Given the description of an element on the screen output the (x, y) to click on. 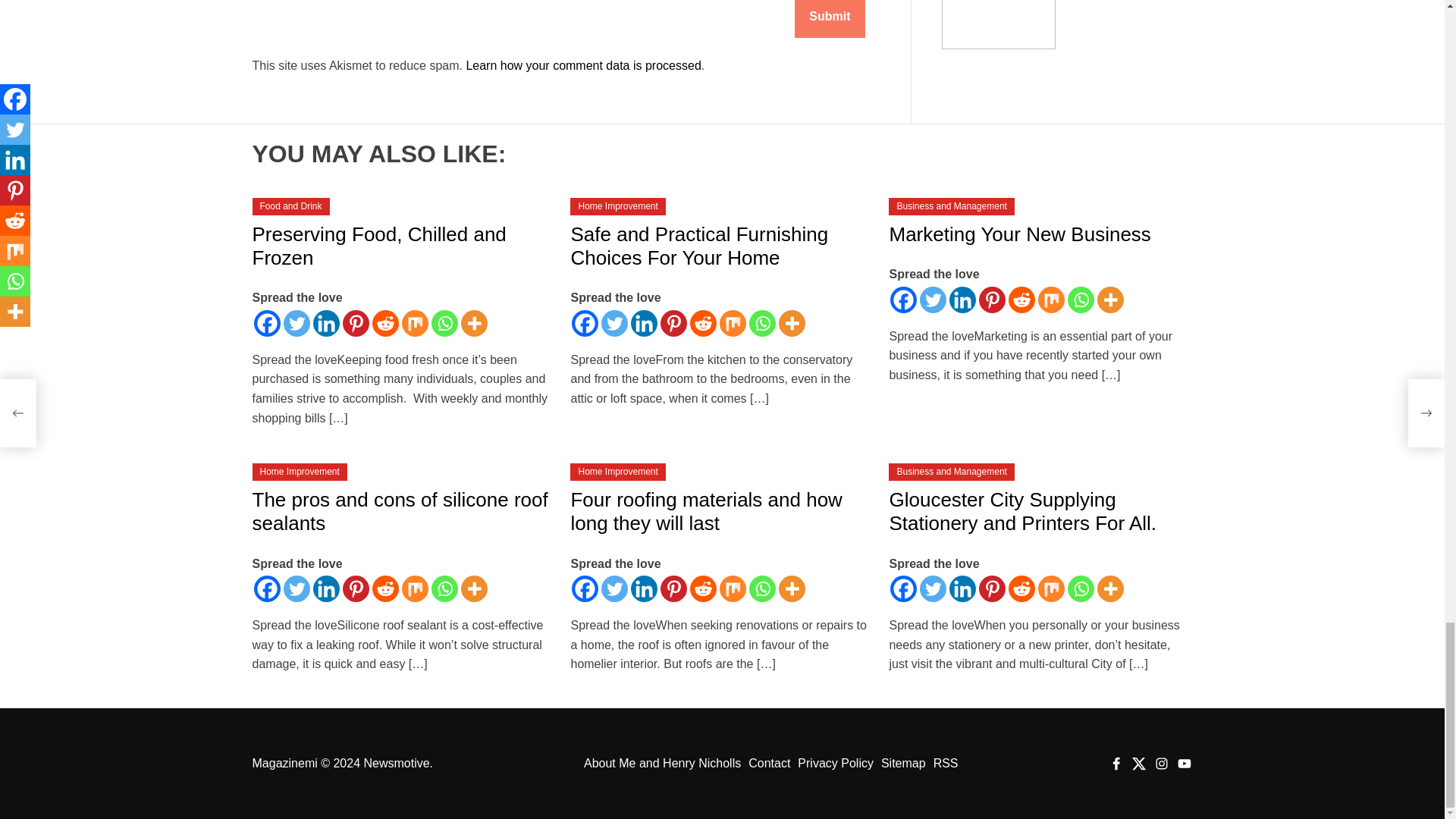
Submit (829, 18)
